Given the description of an element on the screen output the (x, y) to click on. 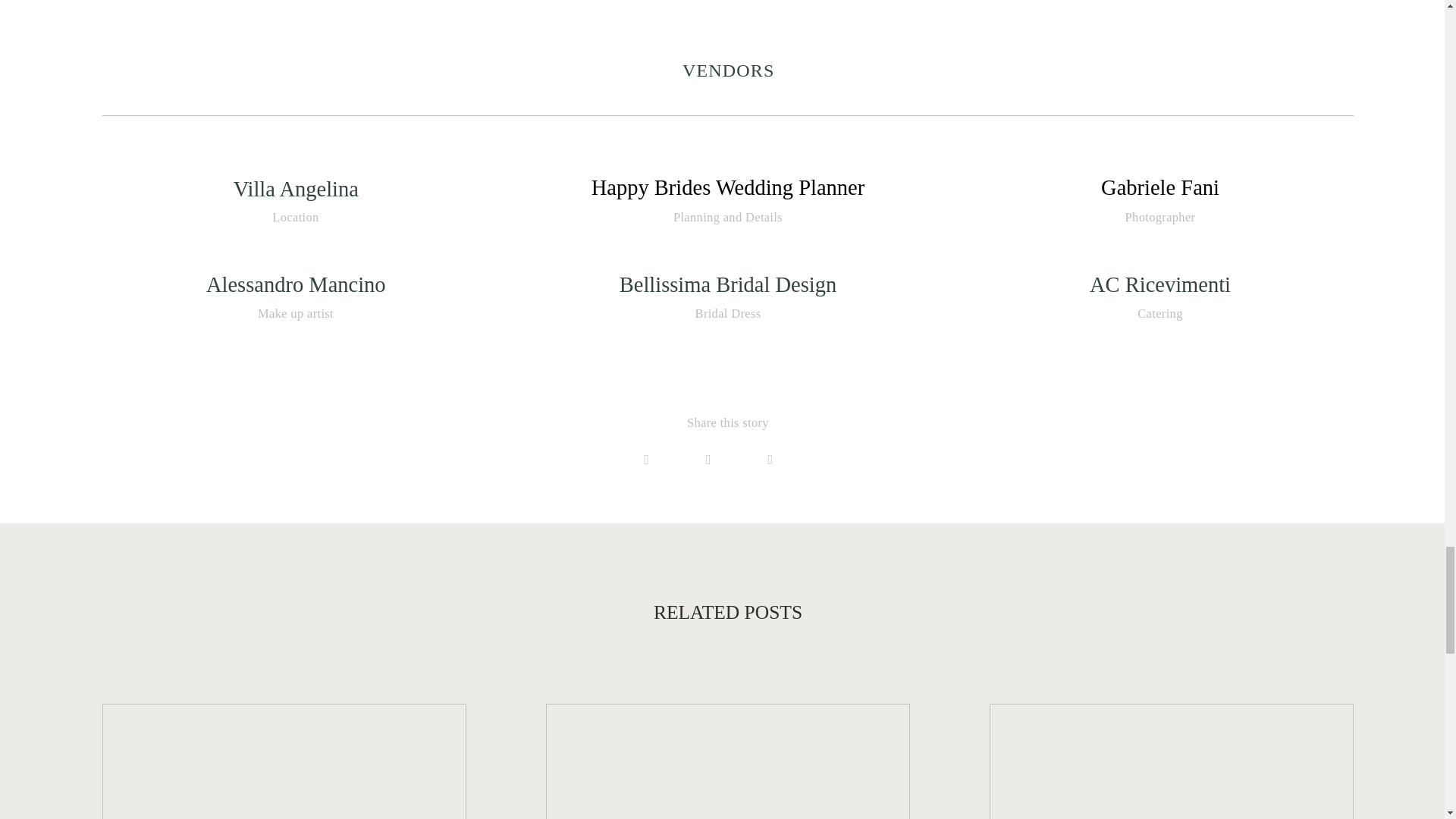
Gabriele Fani (1160, 187)
Alessandro Mancino (295, 284)
Villa Angelina (295, 188)
Happy Brides Wedding Planner (727, 187)
Bellissima Bridal Design (728, 284)
AC Ricevimenti (1159, 284)
